Given the description of an element on the screen output the (x, y) to click on. 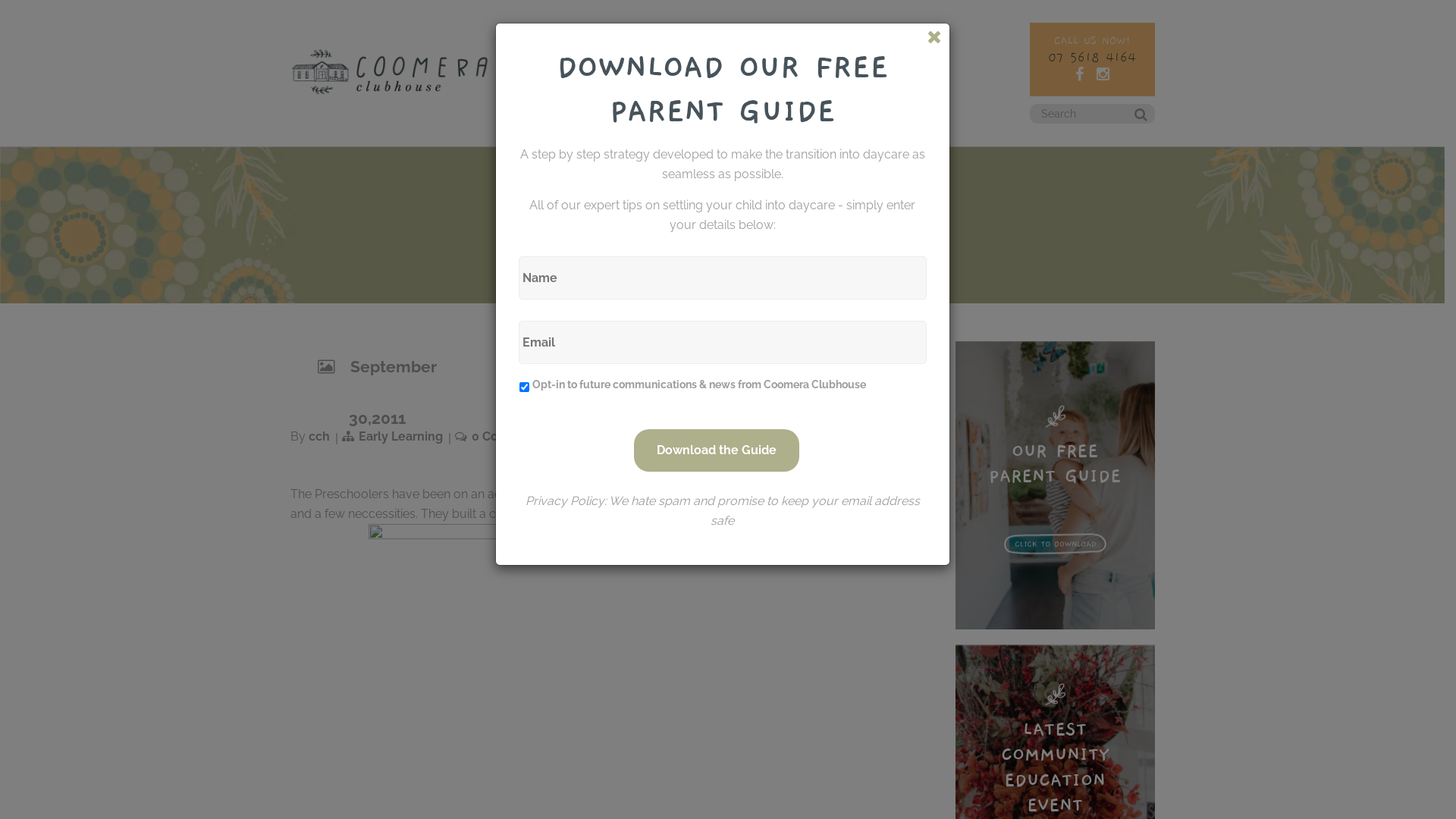
0 Comments Element type: text (508, 436)
wellbeing Element type: text (830, 69)
Search Element type: text (1131, 118)
programs Element type: text (633, 69)
home Element type: text (532, 69)
for families Element type: text (766, 69)
Download the Guide Element type: text (716, 450)
centres Element type: text (578, 69)
Early Learning Element type: text (399, 436)
community Element type: text (698, 69)
cch Element type: text (318, 436)
07 5618 4164 Element type: text (1091, 57)
contact us Element type: text (892, 69)
